Given the description of an element on the screen output the (x, y) to click on. 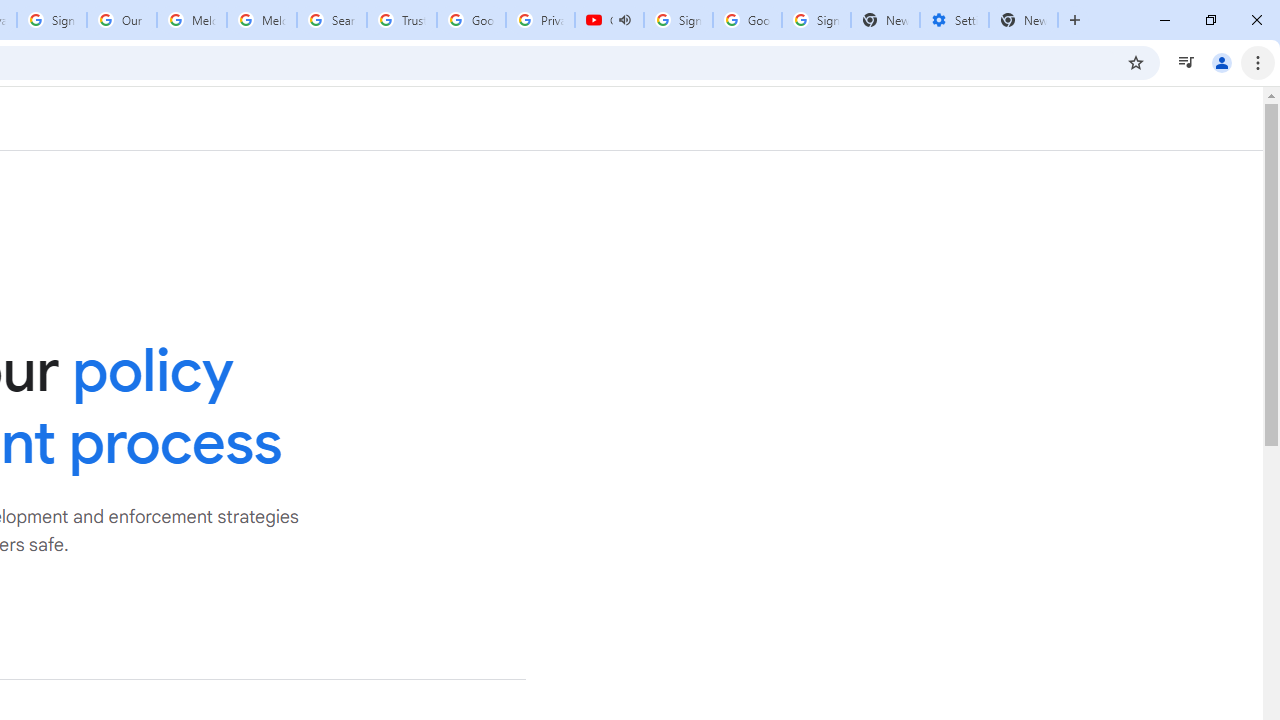
Search our Doodle Library Collection - Google Doodles (332, 20)
Sign in - Google Accounts (51, 20)
Google Cybersecurity Innovations - Google Safety Center (747, 20)
Mute tab (624, 20)
Settings - Addresses and more (954, 20)
Sign in - Google Accounts (677, 20)
